Given the description of an element on the screen output the (x, y) to click on. 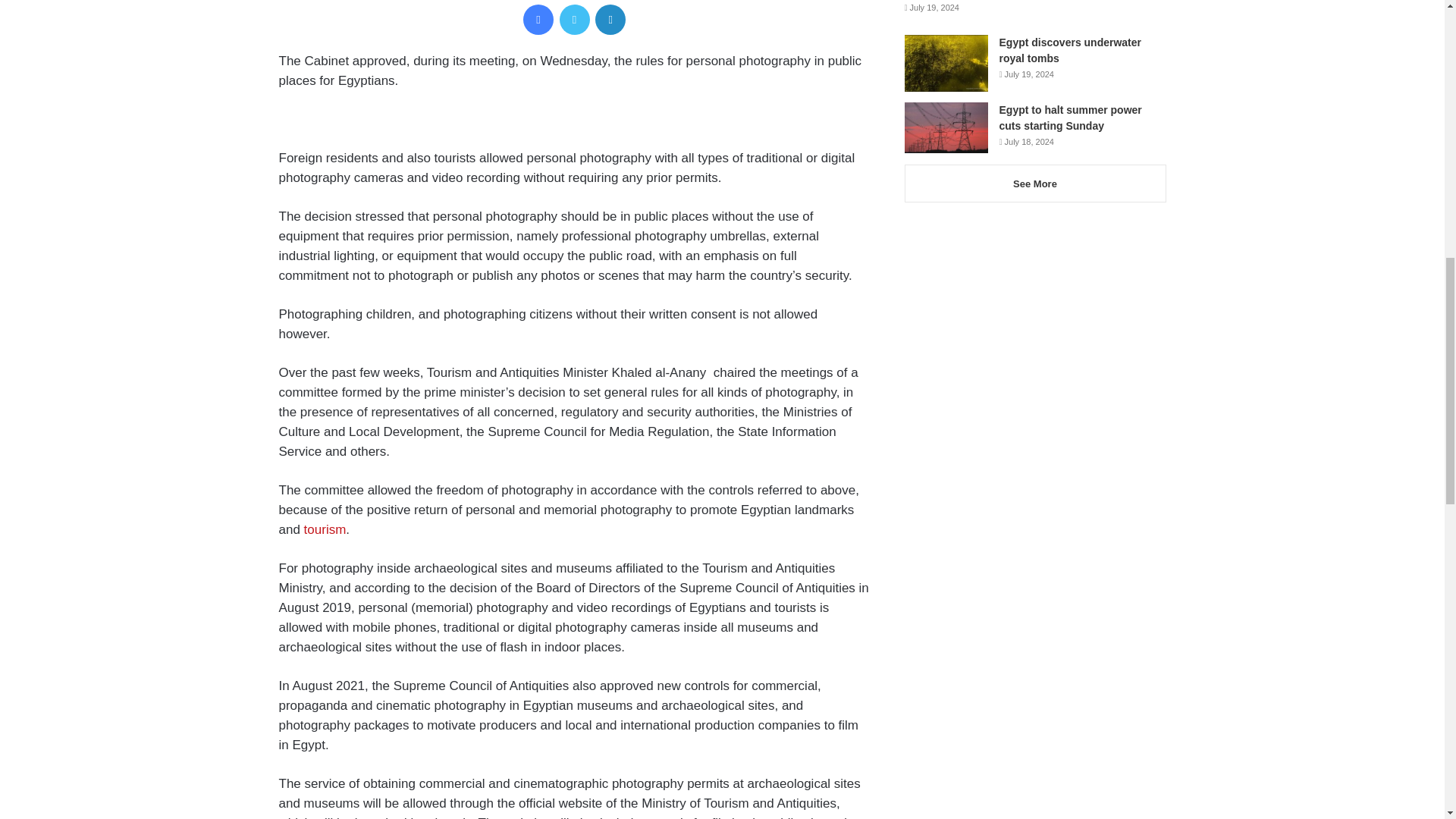
Facebook (537, 19)
tourism (325, 529)
LinkedIn (610, 19)
Facebook (537, 19)
LinkedIn (610, 19)
Twitter (574, 19)
Twitter (574, 19)
